Given the description of an element on the screen output the (x, y) to click on. 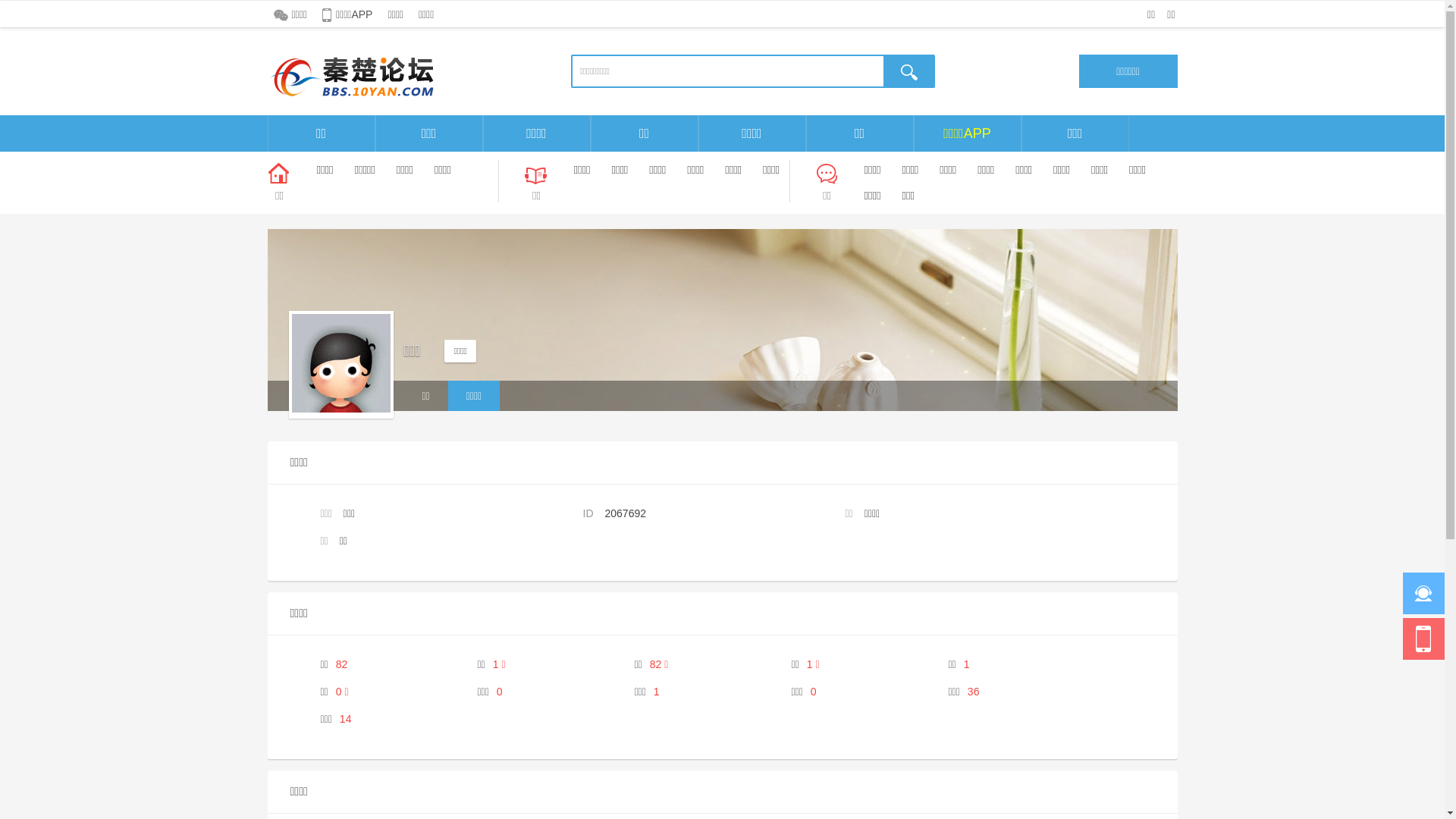
true Element type: text (909, 70)
